Given the description of an element on the screen output the (x, y) to click on. 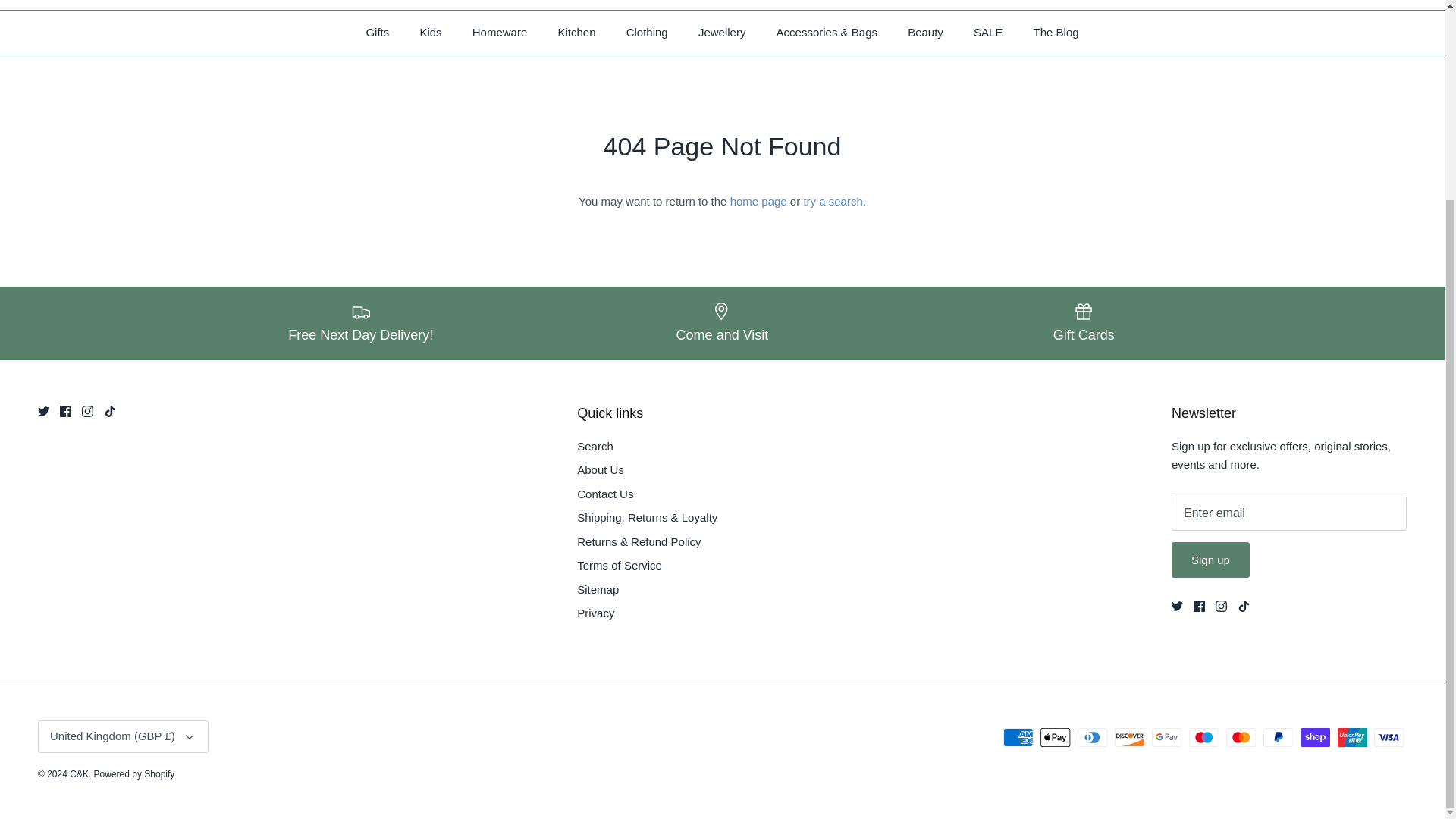
Facebook (1199, 605)
Gifts (377, 32)
Facebook (65, 410)
American Express (1018, 737)
Instagram (87, 410)
Apple Pay (1055, 737)
Twitter (43, 410)
Twitter (1177, 605)
Diners Club (1092, 737)
Instagram (1221, 605)
